Given the description of an element on the screen output the (x, y) to click on. 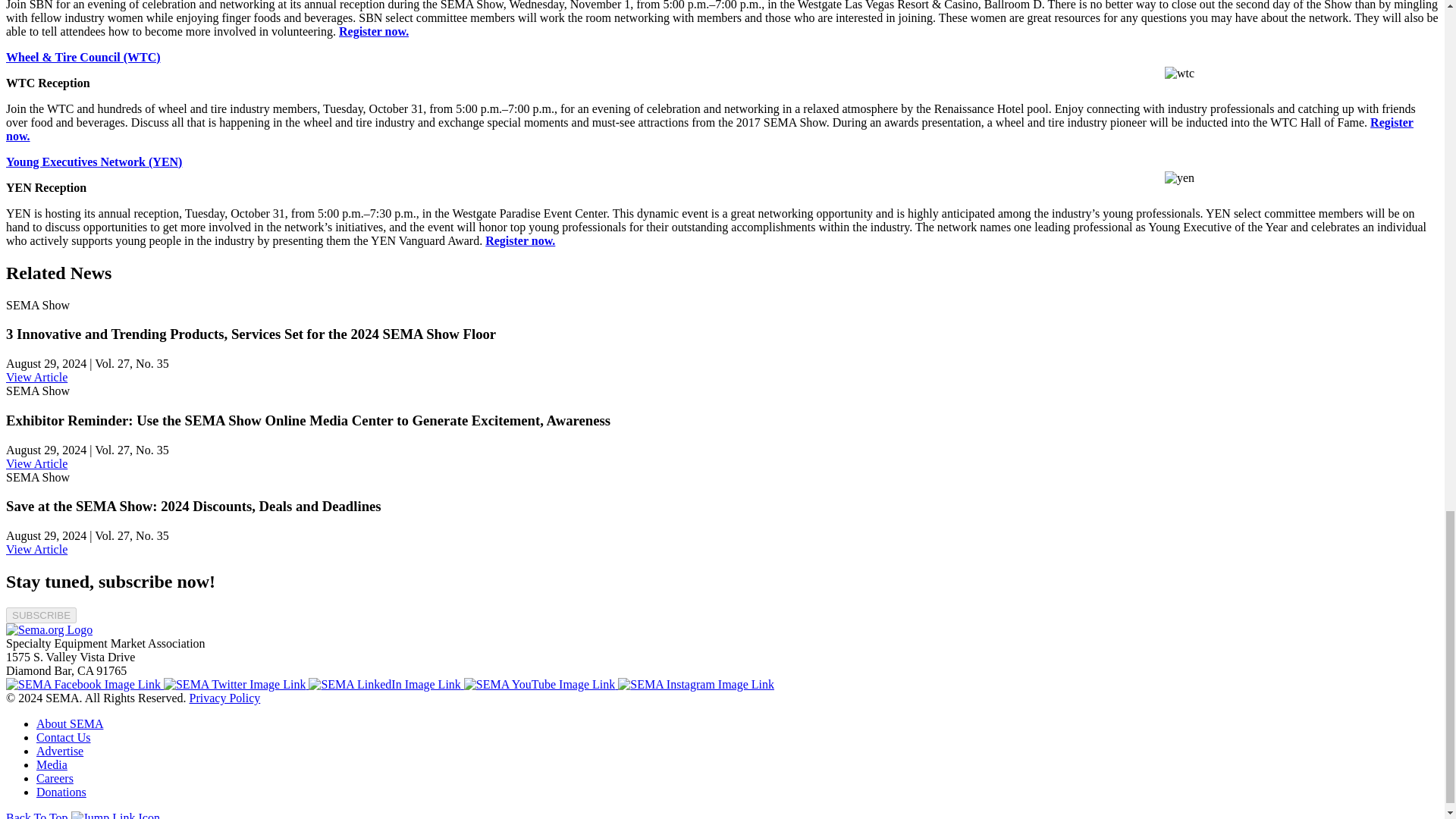
SEMA Twitter Link (235, 684)
SEMA LinkedIn Link (385, 684)
wtc (1178, 73)
Save at the SEMA Show: 2024 Discounts, Deals and Deadlines (35, 549)
SEMA Instagram Link (695, 684)
Privacy Policy (224, 697)
SEMA Facebook Link (84, 684)
yen (1178, 178)
